Given the description of an element on the screen output the (x, y) to click on. 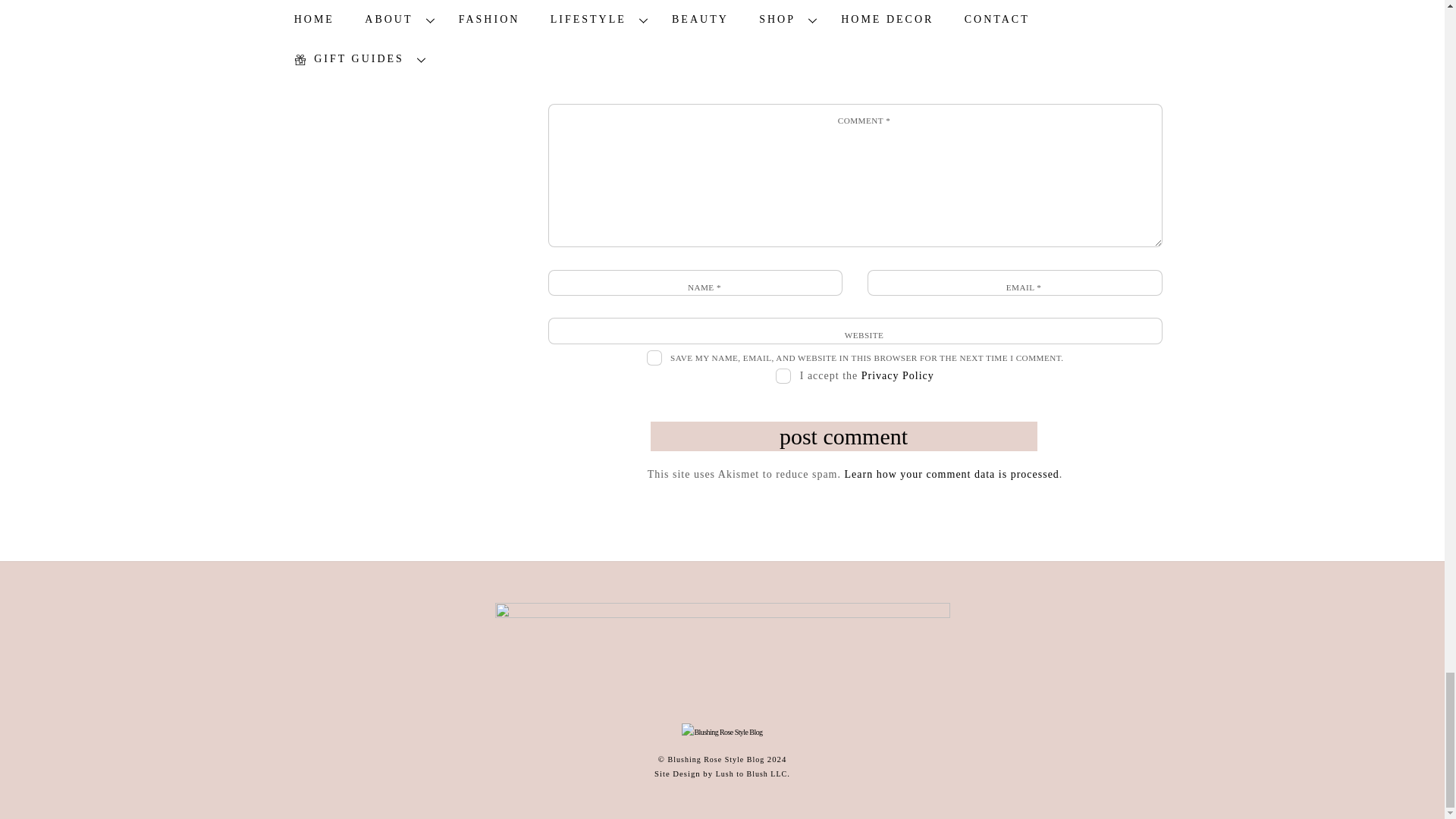
yes (654, 357)
1 (783, 376)
Post Comment (843, 436)
